Given the description of an element on the screen output the (x, y) to click on. 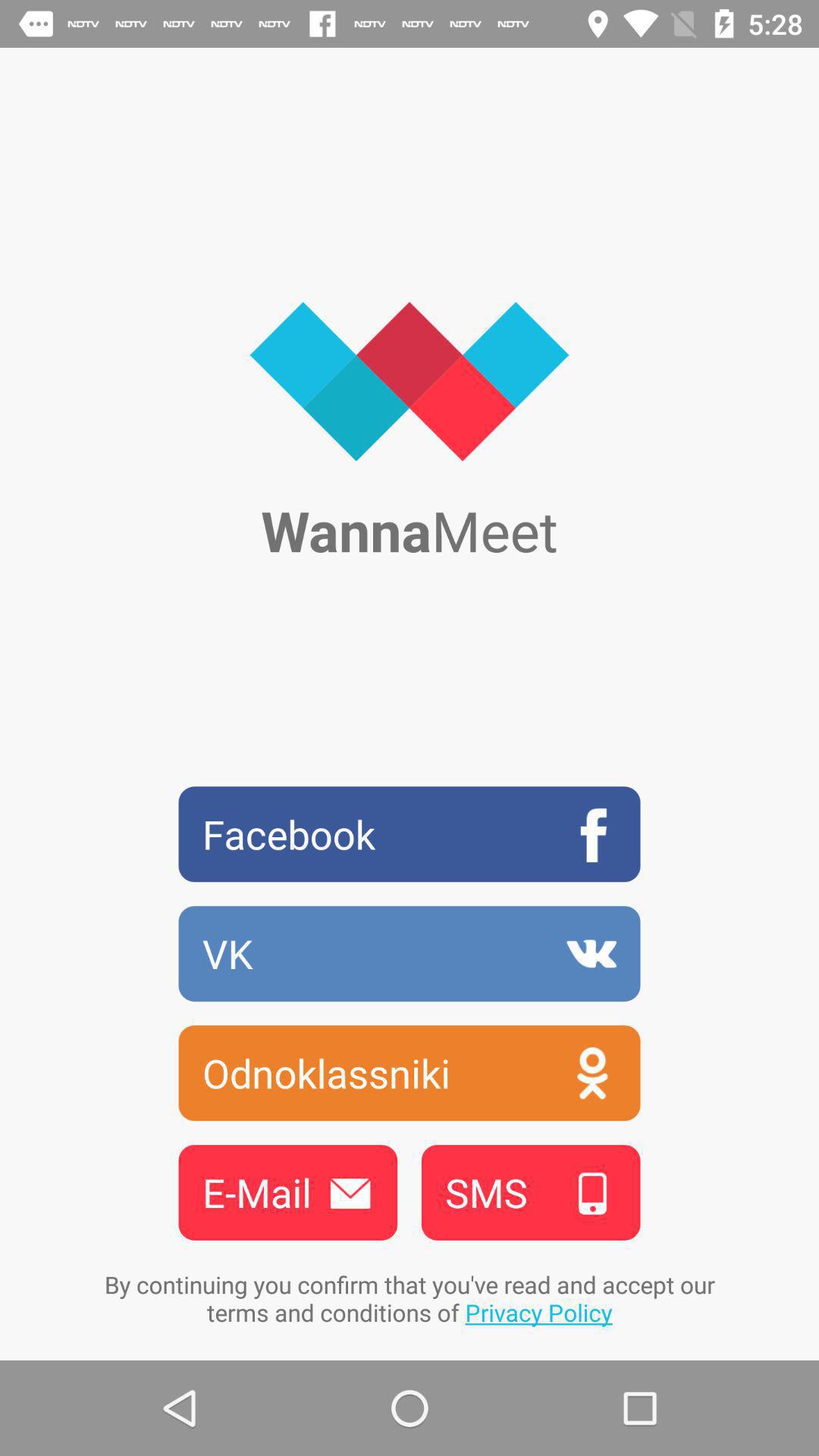
press icon below facebook icon (409, 953)
